Given the description of an element on the screen output the (x, y) to click on. 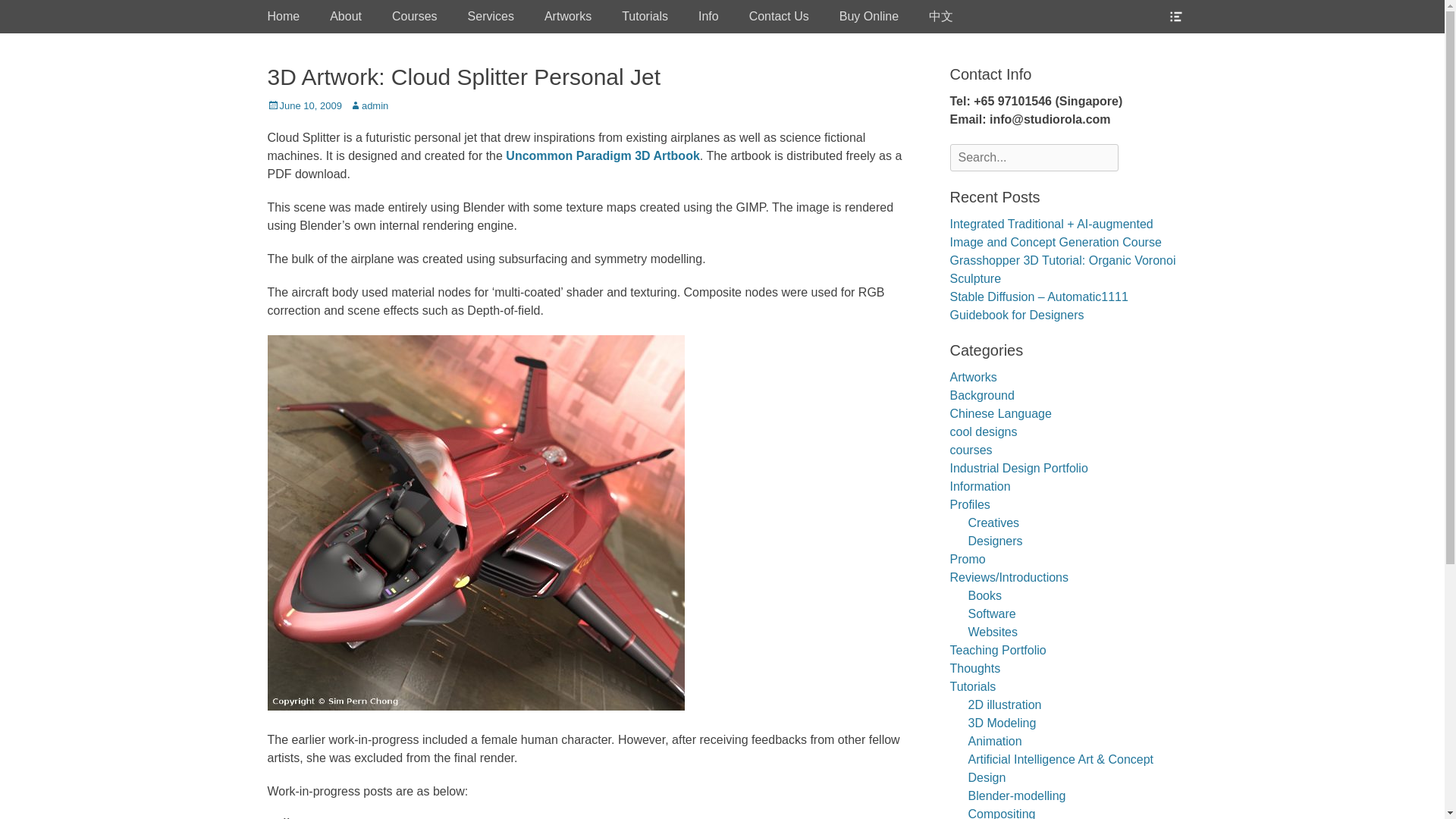
Services (490, 16)
Courses (414, 16)
About (345, 16)
Home (282, 16)
Artworks (568, 16)
Search for: (1033, 157)
Tutorials (644, 16)
